Given the description of an element on the screen output the (x, y) to click on. 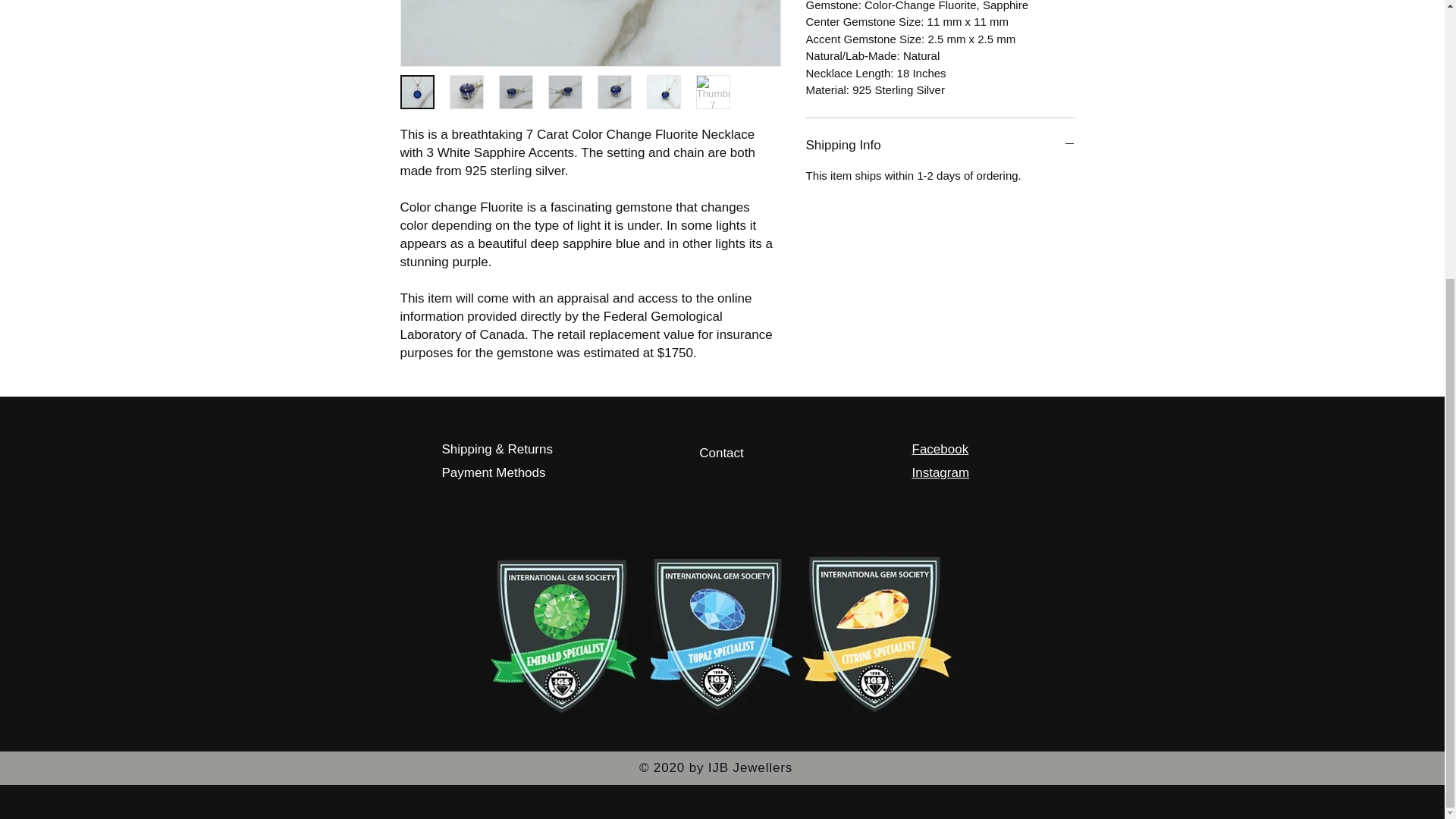
Contact (729, 449)
Instagram (940, 472)
Payment Methods (492, 472)
Contact (720, 453)
Shipping Info (939, 145)
Facebook (939, 449)
